Given the description of an element on the screen output the (x, y) to click on. 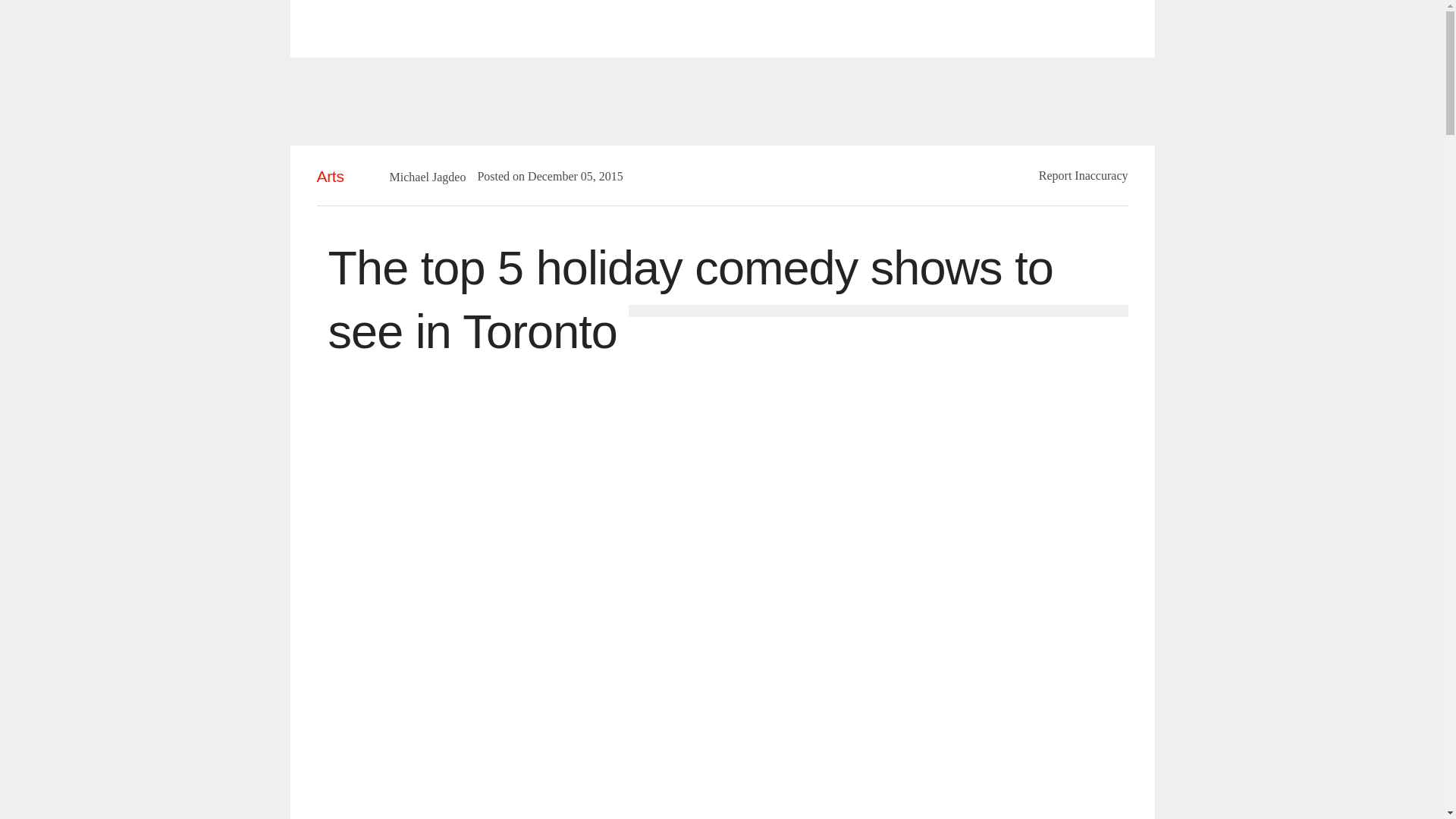
Arts (330, 175)
2015-12-05T00:05:00 (567, 175)
Report Inaccuracy (1083, 174)
